Given the description of an element on the screen output the (x, y) to click on. 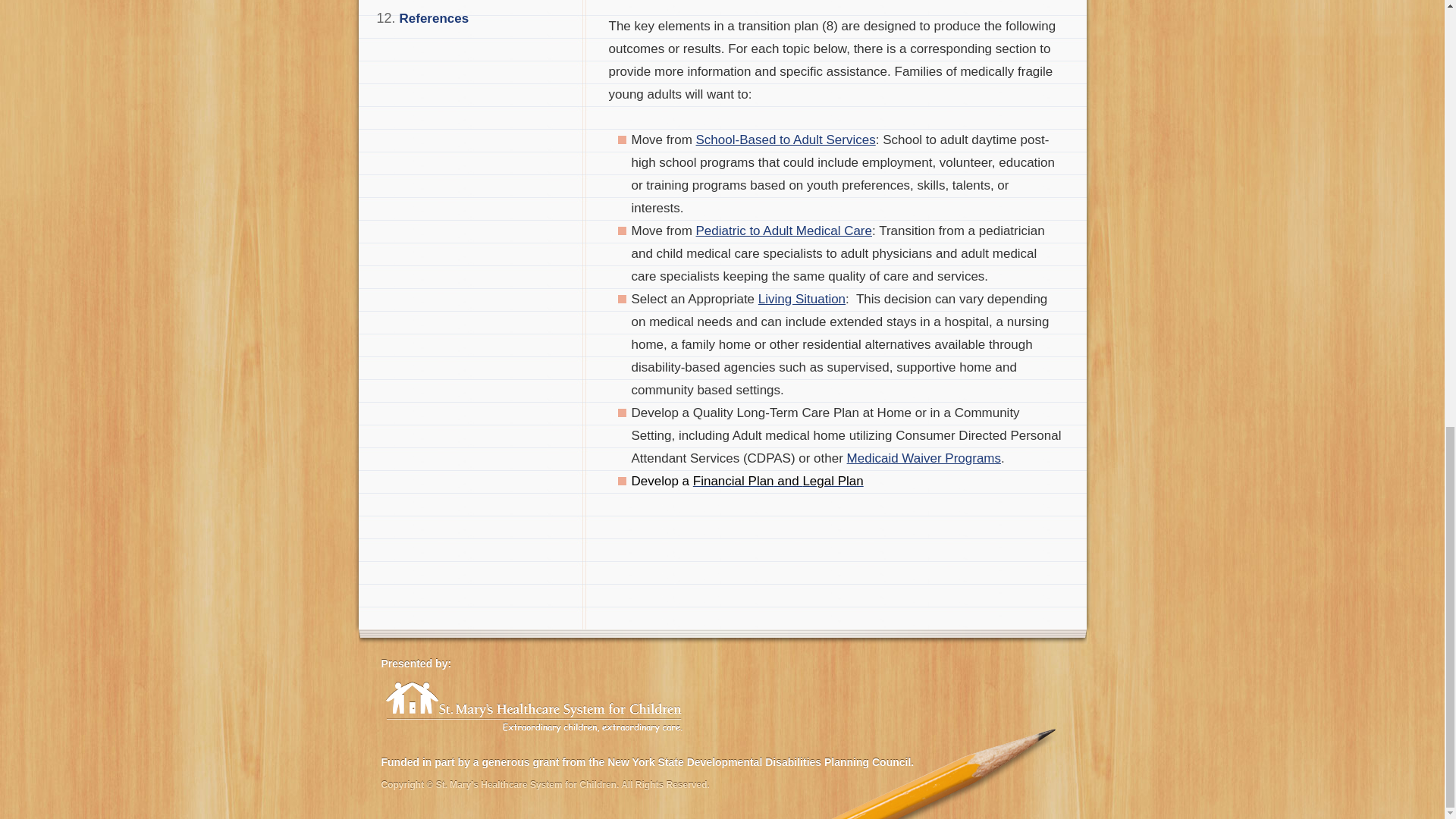
Living Situation (801, 298)
School Transition Process (785, 139)
What is Transitioning? (783, 230)
Financial Plan and Legal Plan (778, 481)
Residential Options (801, 298)
School-Based to Adult Services (785, 139)
Estate Planning (778, 481)
Medicaid Waivers (924, 458)
Medicaid Waiver Programs (924, 458)
Pediatric to Adult Medical Care (783, 230)
